Given the description of an element on the screen output the (x, y) to click on. 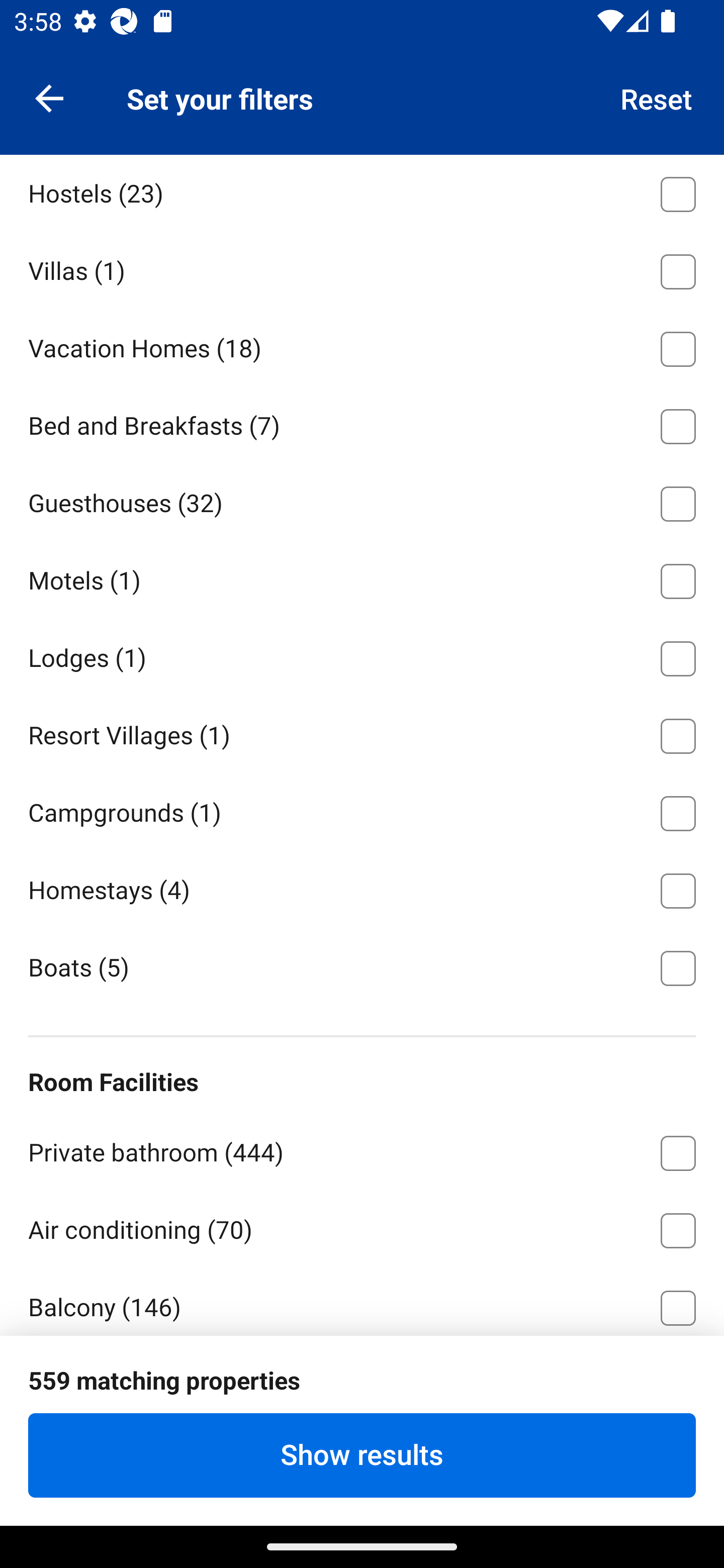
Navigate up (49, 97)
Reset (656, 97)
Hotels ⁦(308) (361, 113)
Hostels ⁦(23) (361, 191)
Villas ⁦(1) (361, 267)
Vacation Homes ⁦(18) (361, 345)
Bed and Breakfasts ⁦(7) (361, 423)
Guesthouses ⁦(32) (361, 500)
Motels ⁦(1) (361, 577)
Lodges ⁦(1) (361, 655)
Resort Villages ⁦(1) (361, 732)
Campgrounds ⁦(1) (361, 809)
Homestays ⁦(4) (361, 887)
Boats ⁦(5) (361, 966)
Private bathroom ⁦(444) (361, 1149)
Air conditioning ⁦(70) (361, 1226)
Balcony ⁦(146) (361, 1300)
Kitchen/Kitchenette ⁦(540) (361, 1381)
Show results (361, 1454)
